Given the description of an element on the screen output the (x, y) to click on. 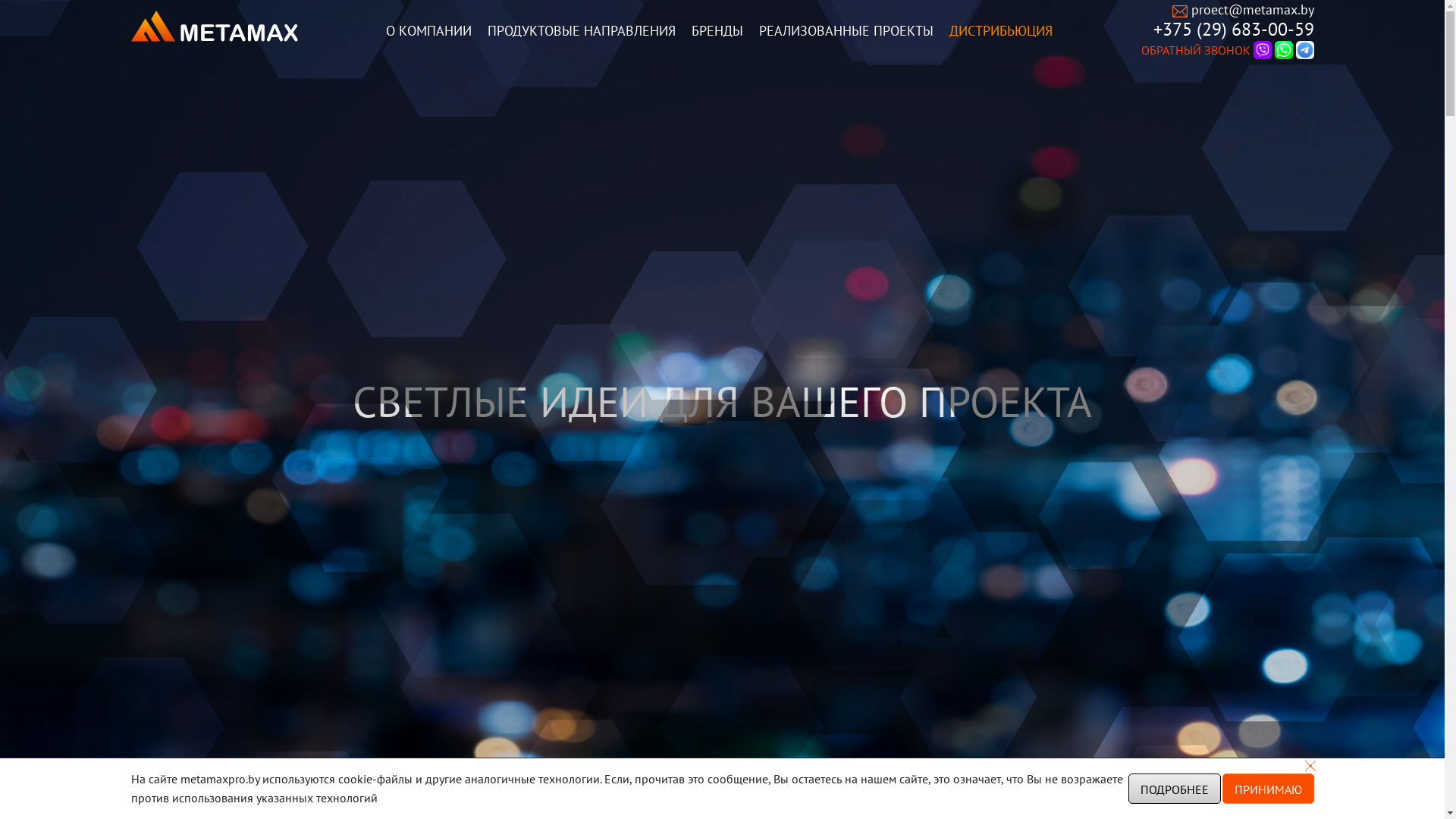
+375 (29) 683-00-59 Element type: text (1232, 28)
